Given the description of an element on the screen output the (x, y) to click on. 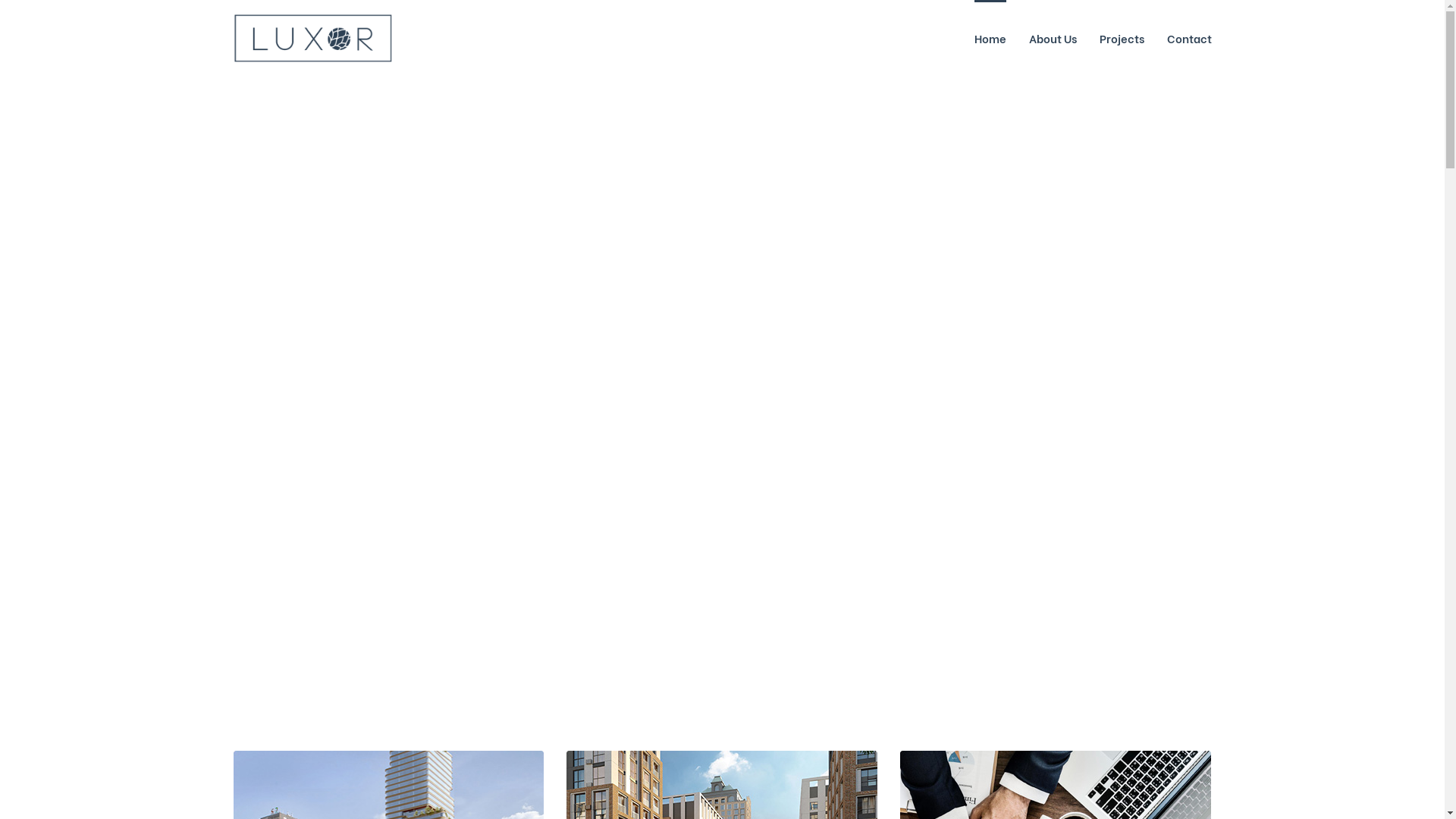
About Us Element type: text (1052, 37)
Contact Element type: text (1188, 37)
Projects Element type: text (1121, 37)
Home Element type: text (989, 37)
